Given the description of an element on the screen output the (x, y) to click on. 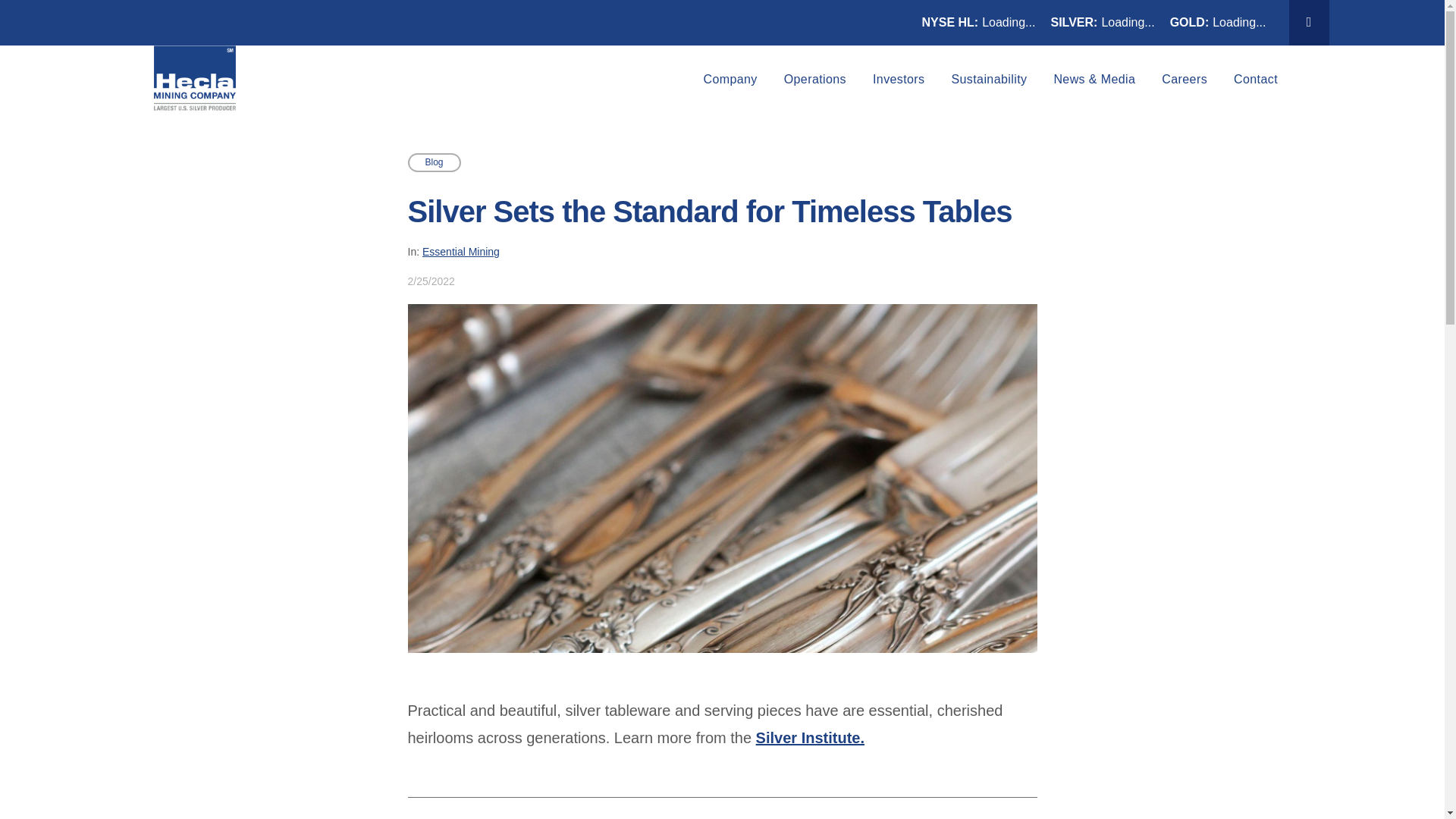
Operations (815, 78)
Sustainability (989, 78)
Company (730, 78)
Investors (898, 78)
